Given the description of an element on the screen output the (x, y) to click on. 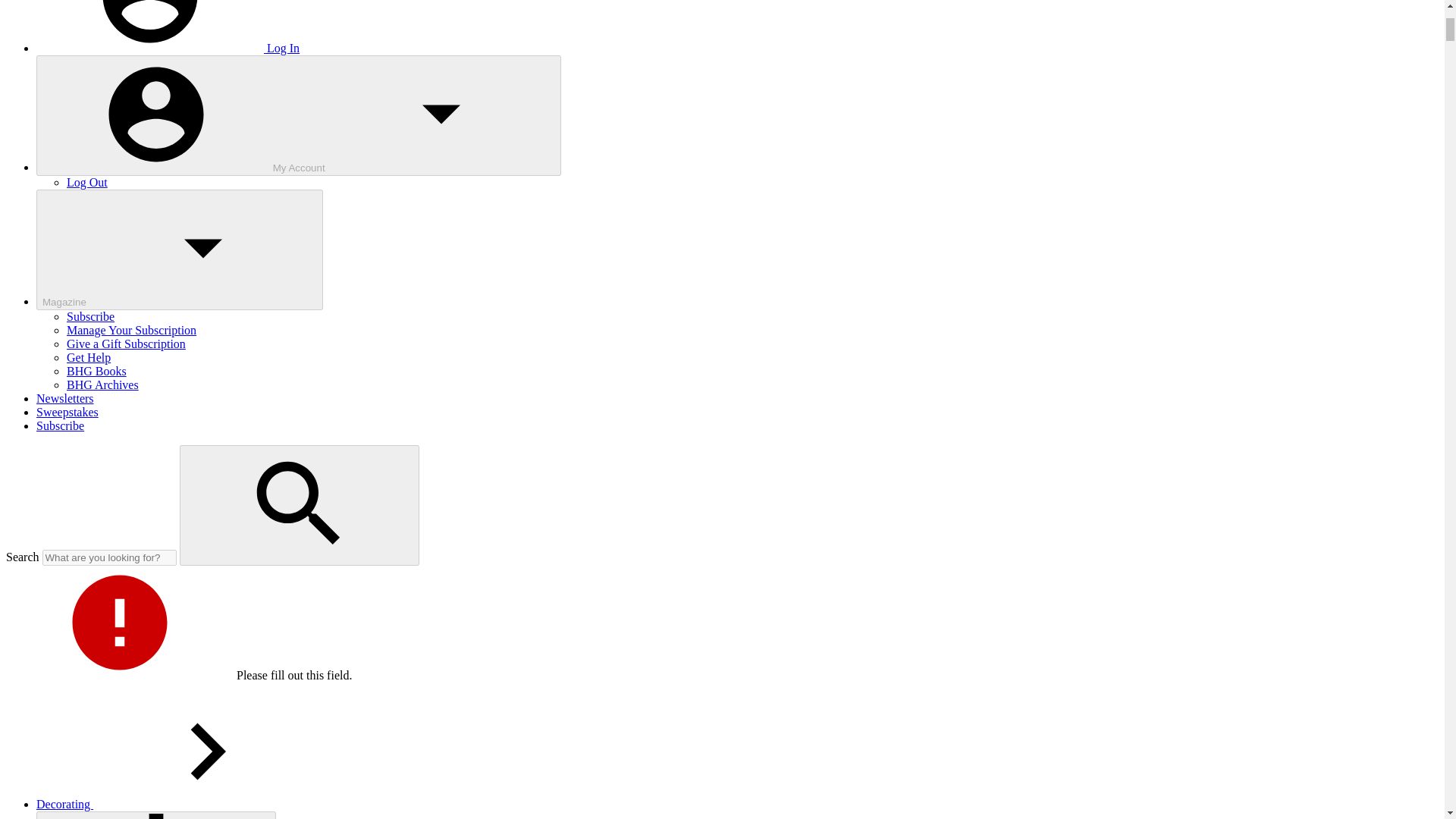
BHG Books (96, 370)
Give a Gift Subscription (126, 343)
Get Help (88, 357)
Decorating (178, 803)
Log Out (86, 182)
Manage Your Subscription (131, 329)
Magazine (179, 249)
Subscribe (90, 316)
Subscribe (60, 425)
My Account (298, 115)
Sweepstakes (67, 411)
BHG Archives (102, 384)
Log In (167, 47)
Newsletters (65, 398)
